Given the description of an element on the screen output the (x, y) to click on. 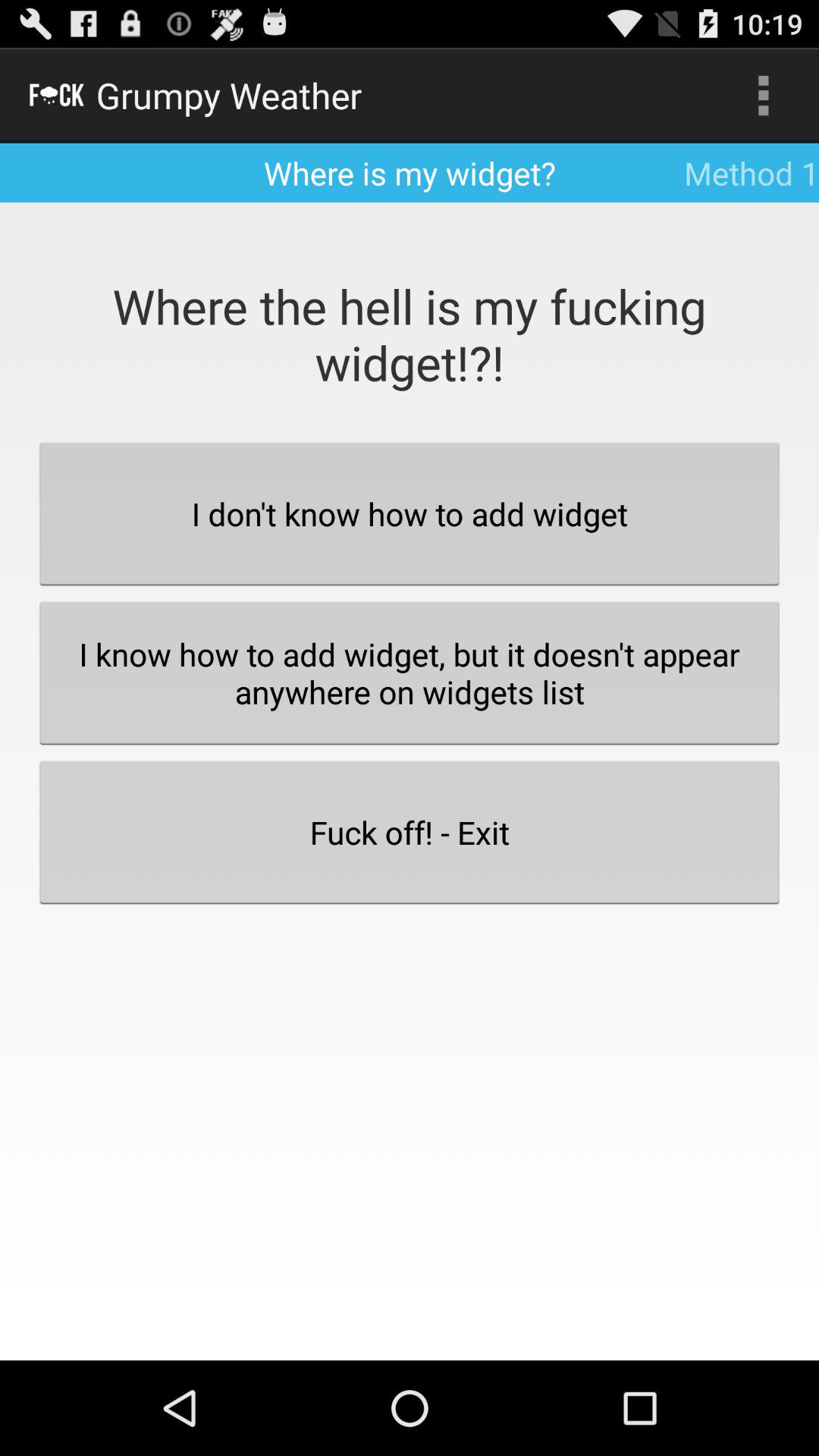
flip until the fuck off! - exit item (409, 831)
